Given the description of an element on the screen output the (x, y) to click on. 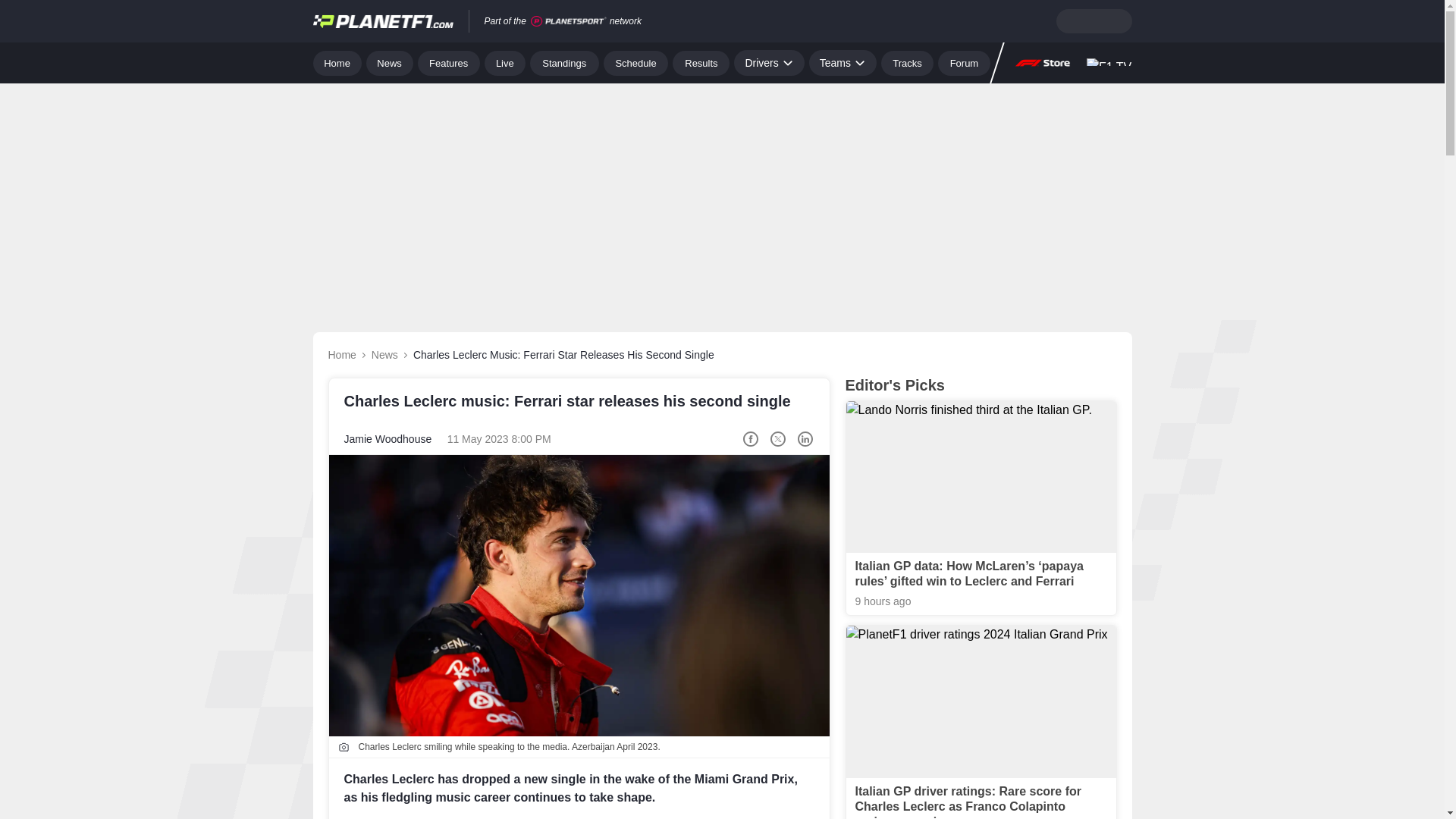
Results (700, 62)
Live (504, 62)
Teams (842, 62)
Schedule (636, 62)
Home (337, 62)
Features (448, 62)
Drivers (768, 62)
News (389, 62)
Standings (563, 62)
